Given the description of an element on the screen output the (x, y) to click on. 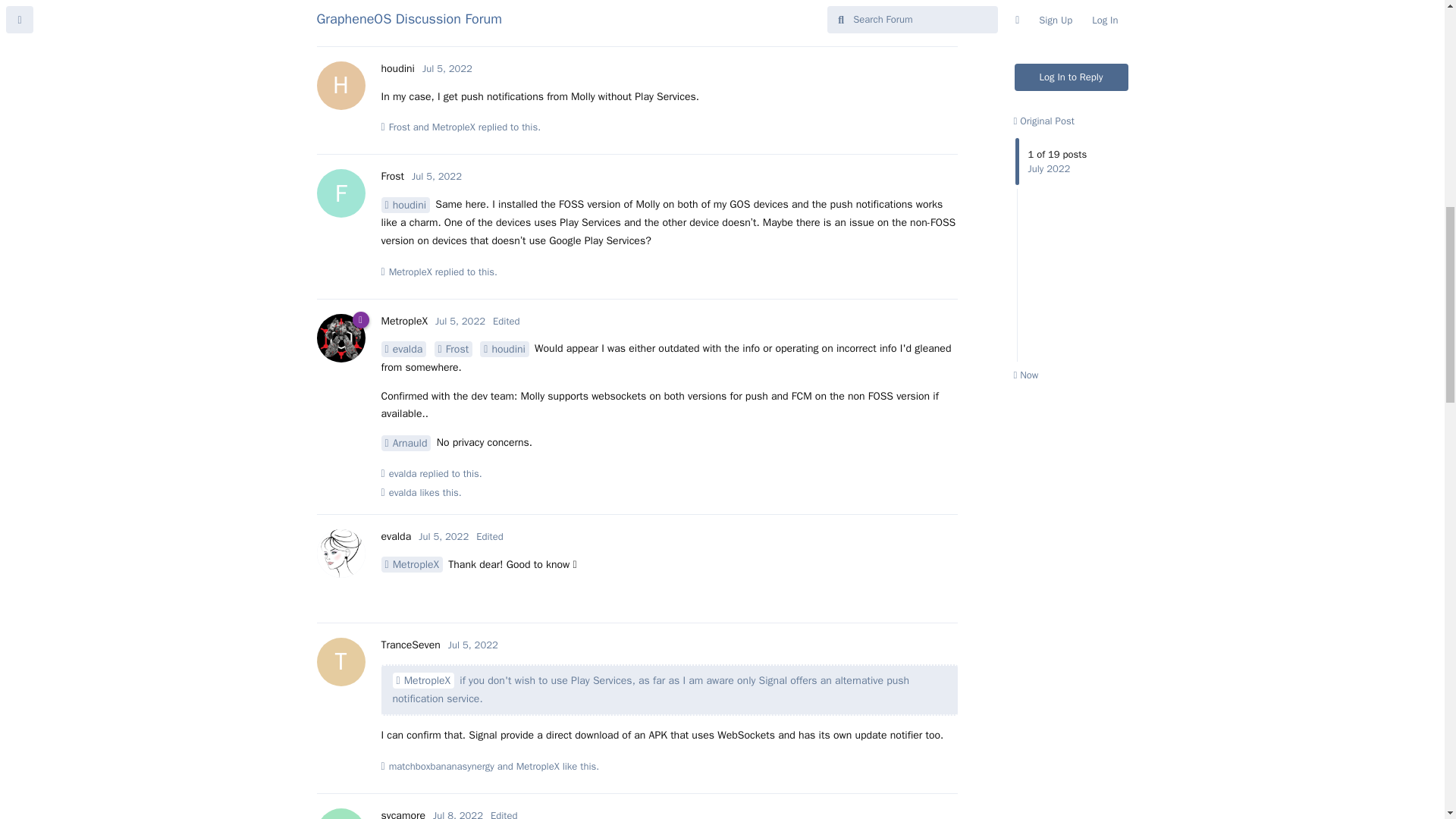
Tuesday, July 5, 2022 1:24 AM (446, 68)
Tuesday, July 5, 2022 2:04 AM (459, 320)
Tuesday, July 5, 2022 1:34 AM (436, 175)
Friday, July 8, 2022 11:52 PM (457, 814)
Tuesday, July 5, 2022 9:42 PM (472, 644)
Tuesday, July 5, 2022 6:09 PM (443, 535)
